Given the description of an element on the screen output the (x, y) to click on. 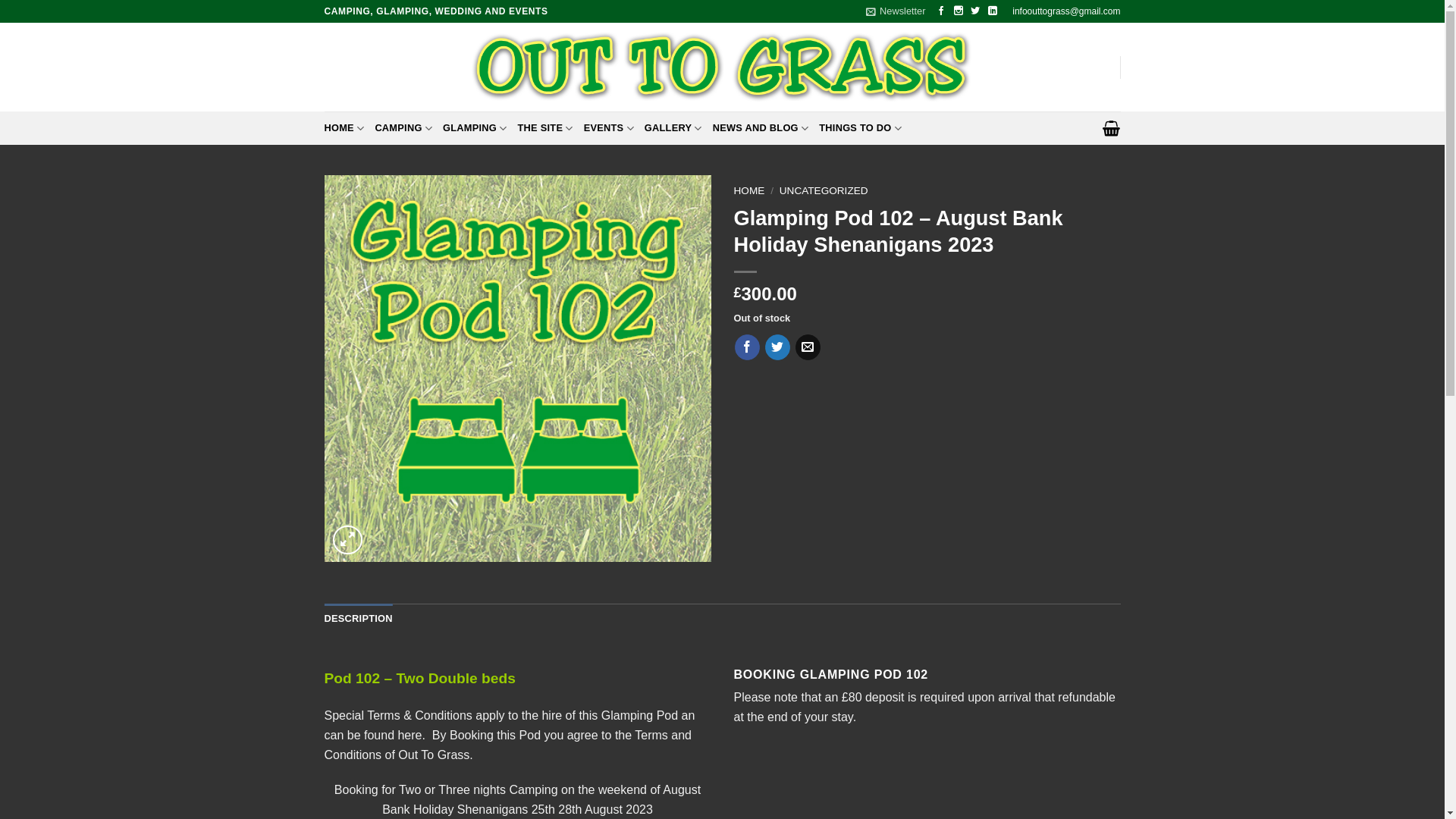
Newsletter (895, 11)
CAMPING (403, 128)
THE SITE (545, 128)
GLAMPING (474, 128)
EVENTS (608, 128)
Out To Grass - Camping, Glamping, Wedding and Events (722, 66)
HOME (344, 128)
